Given the description of an element on the screen output the (x, y) to click on. 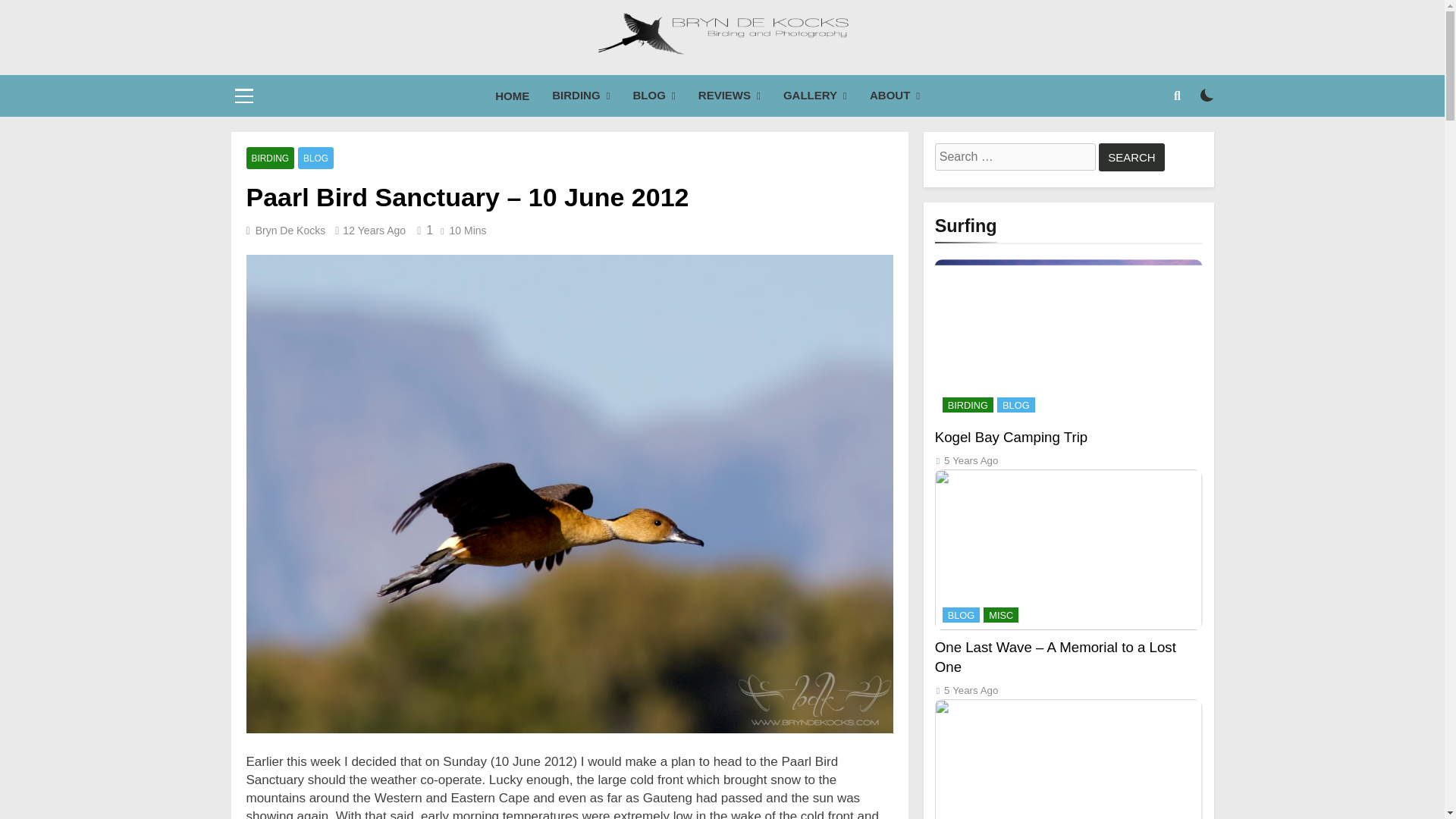
BLOG (654, 96)
HOME (511, 96)
Search (1131, 157)
Search (1131, 157)
1 (422, 229)
REVIEWS (729, 96)
Bryn De Kocks (603, 87)
BIRDING (270, 157)
ABOUT (895, 96)
BIRDING (580, 96)
